Given the description of an element on the screen output the (x, y) to click on. 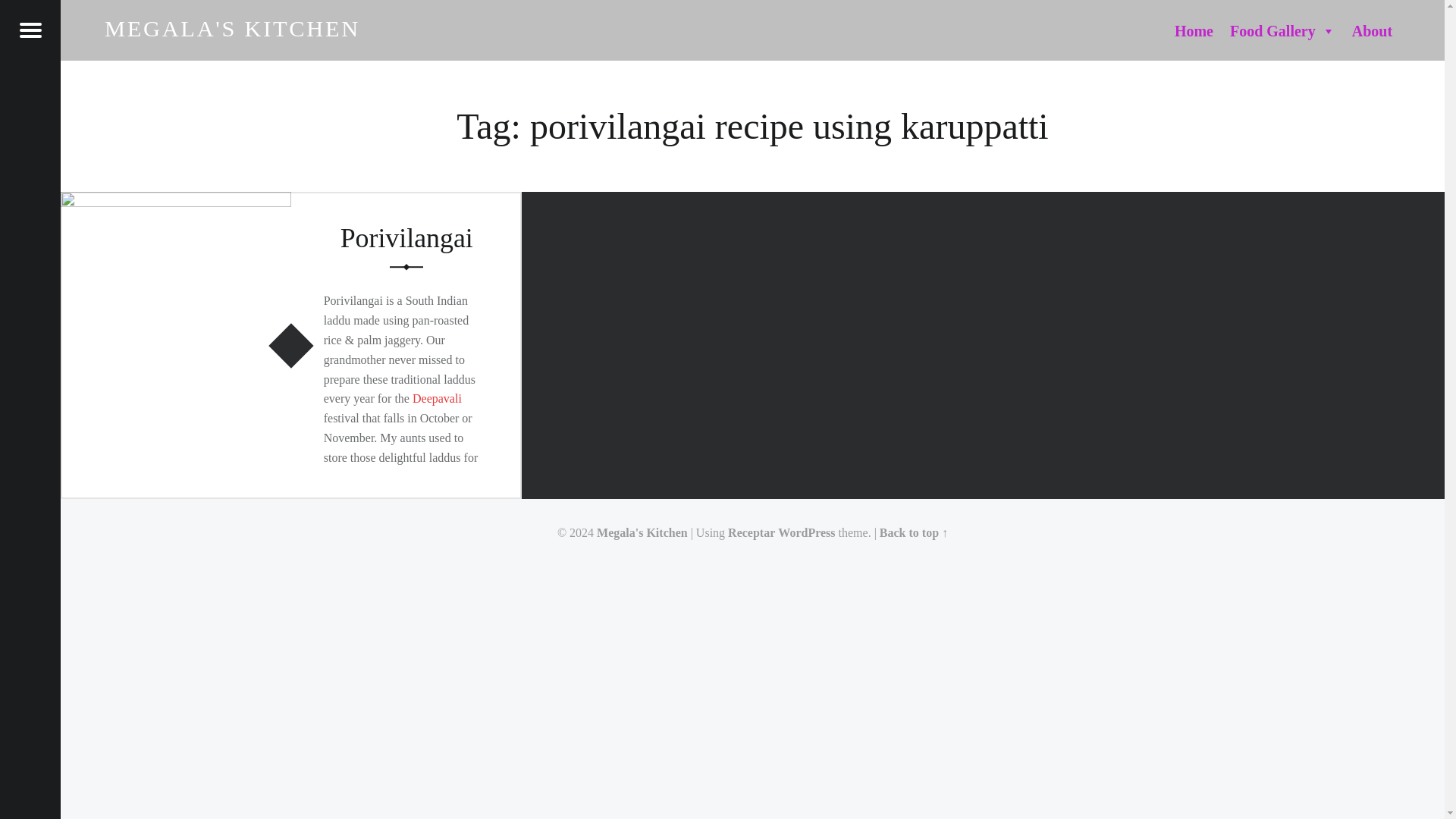
MEGALA'S KITCHEN (231, 28)
